Given the description of an element on the screen output the (x, y) to click on. 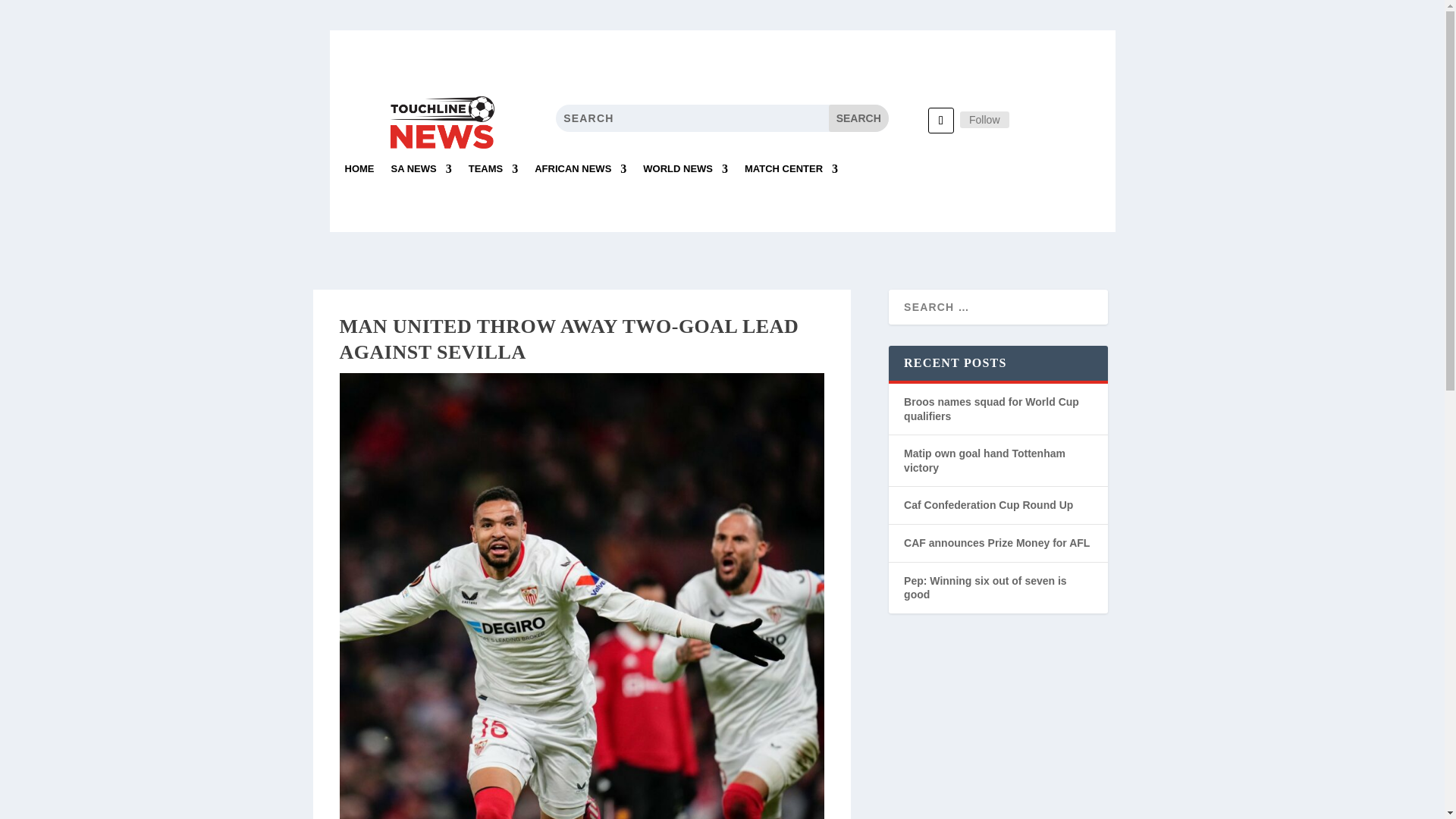
HOME (358, 173)
Follow on Twitter (940, 120)
Search (858, 117)
Search (858, 117)
SA NEWS (421, 173)
WORLD NEWS (685, 173)
Touchline news logo (441, 122)
TEAMS (493, 173)
Twitter (984, 119)
AFRICAN NEWS (580, 173)
Search (858, 117)
Follow (984, 119)
